Given the description of an element on the screen output the (x, y) to click on. 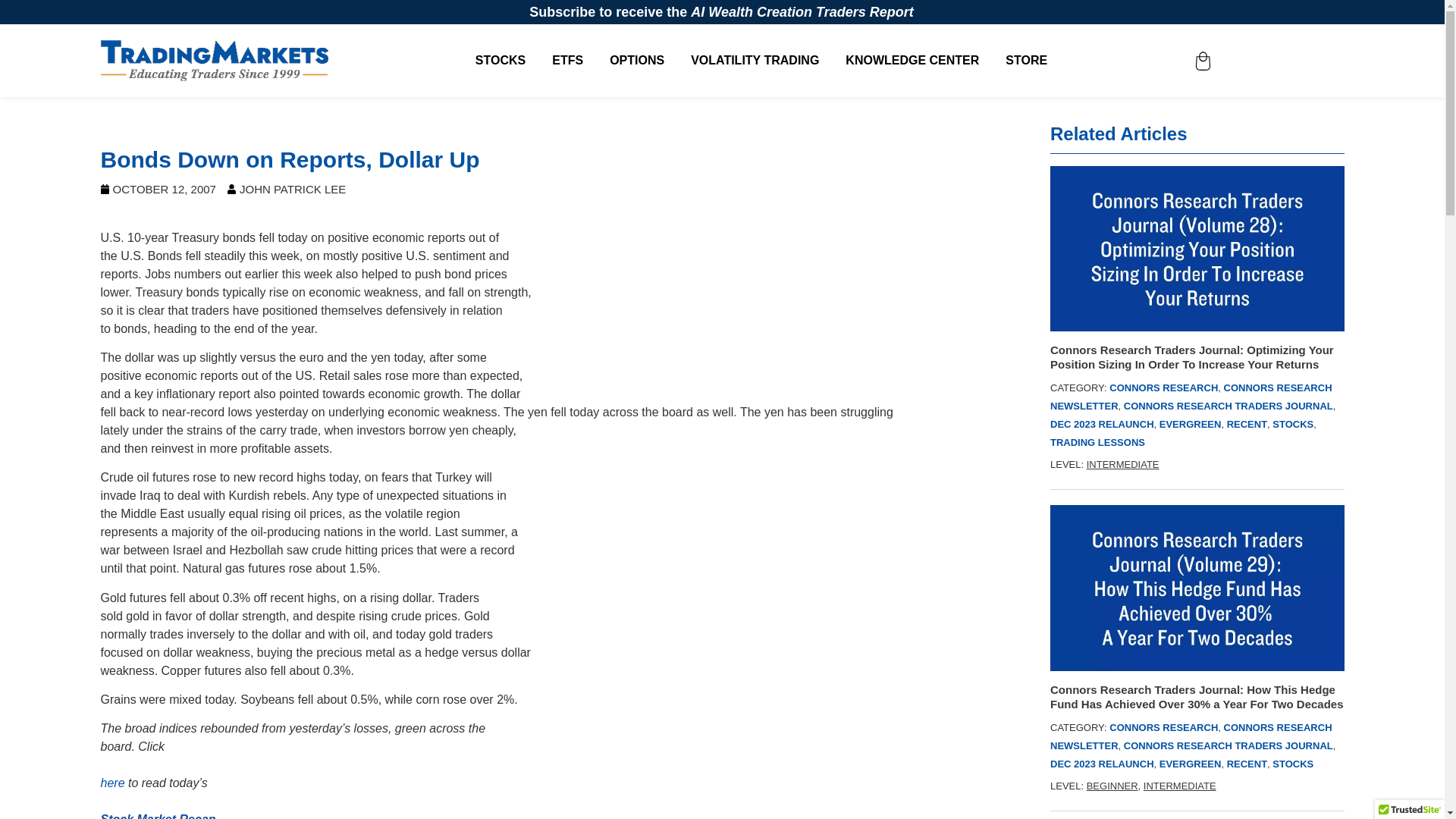
CONNORS RESEARCH (1163, 727)
VOLATILITY TRADING (754, 60)
KNOWLEDGE CENTER (911, 60)
CONNORS RESEARCH (1163, 387)
EVERGREEN (1189, 423)
TRADING LESSONS (1096, 441)
CONNORS RESEARCH TRADERS JOURNAL (1228, 745)
Stock Market Recap (157, 816)
DEC 2023 RELAUNCH (1101, 763)
CONNORS RESEARCH TRADERS JOURNAL (1228, 405)
RECENT (1246, 423)
Subscribe to receive the AI Wealth Creation Traders Report (722, 11)
INTERMEDIATE (1122, 464)
STOCKS (1292, 423)
CONNORS RESEARCH NEWSLETTER (1190, 396)
